Given the description of an element on the screen output the (x, y) to click on. 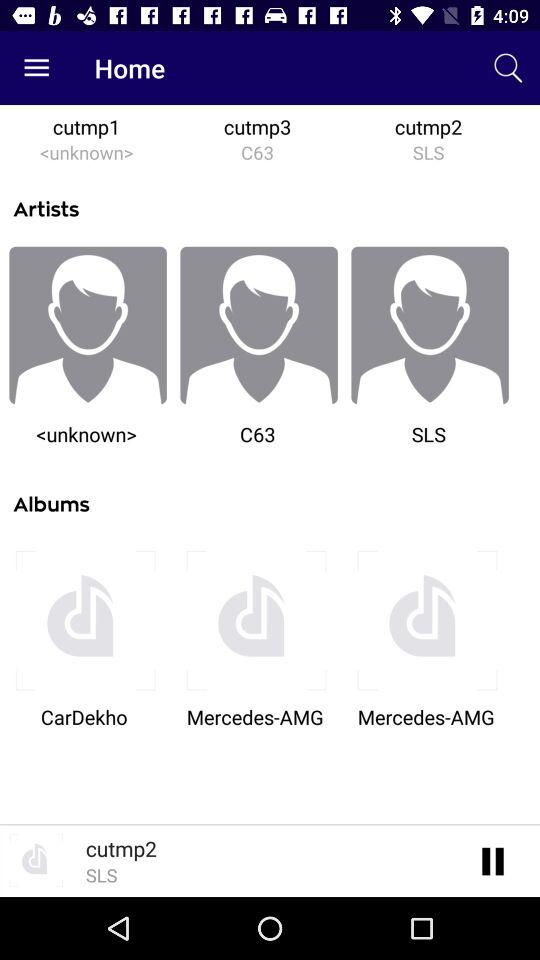
click the pause button (493, 860)
